Given the description of an element on the screen output the (x, y) to click on. 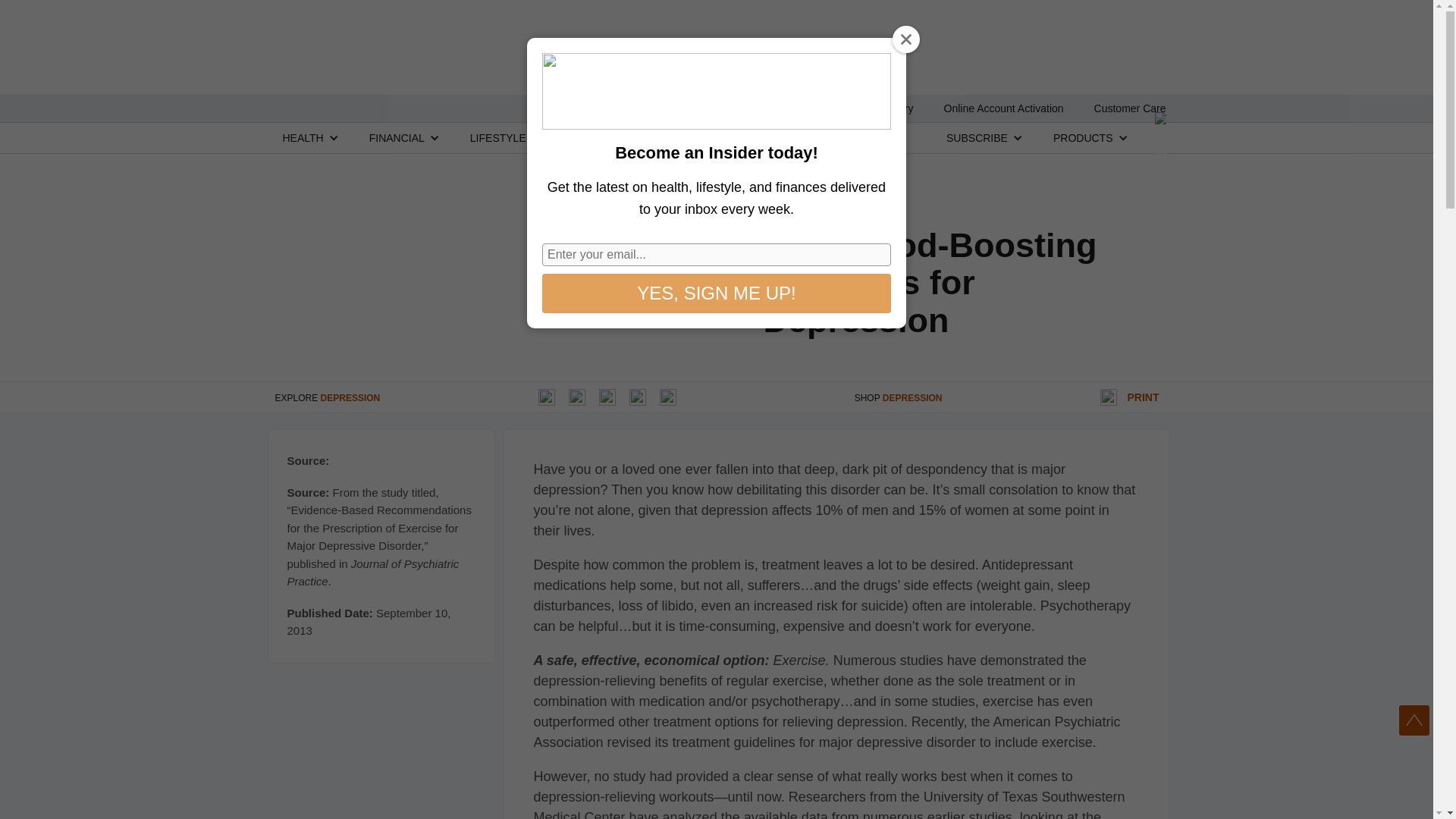
FINANCIAL (397, 137)
HEALTH (302, 137)
Login (820, 108)
Scroll To Top (1414, 720)
My Library (887, 108)
LIFESTYLE (497, 137)
Online Account Activation (1003, 108)
Scroll To Top (1414, 720)
Scroll To Top (1414, 720)
Customer Care (1130, 108)
